Given the description of an element on the screen output the (x, y) to click on. 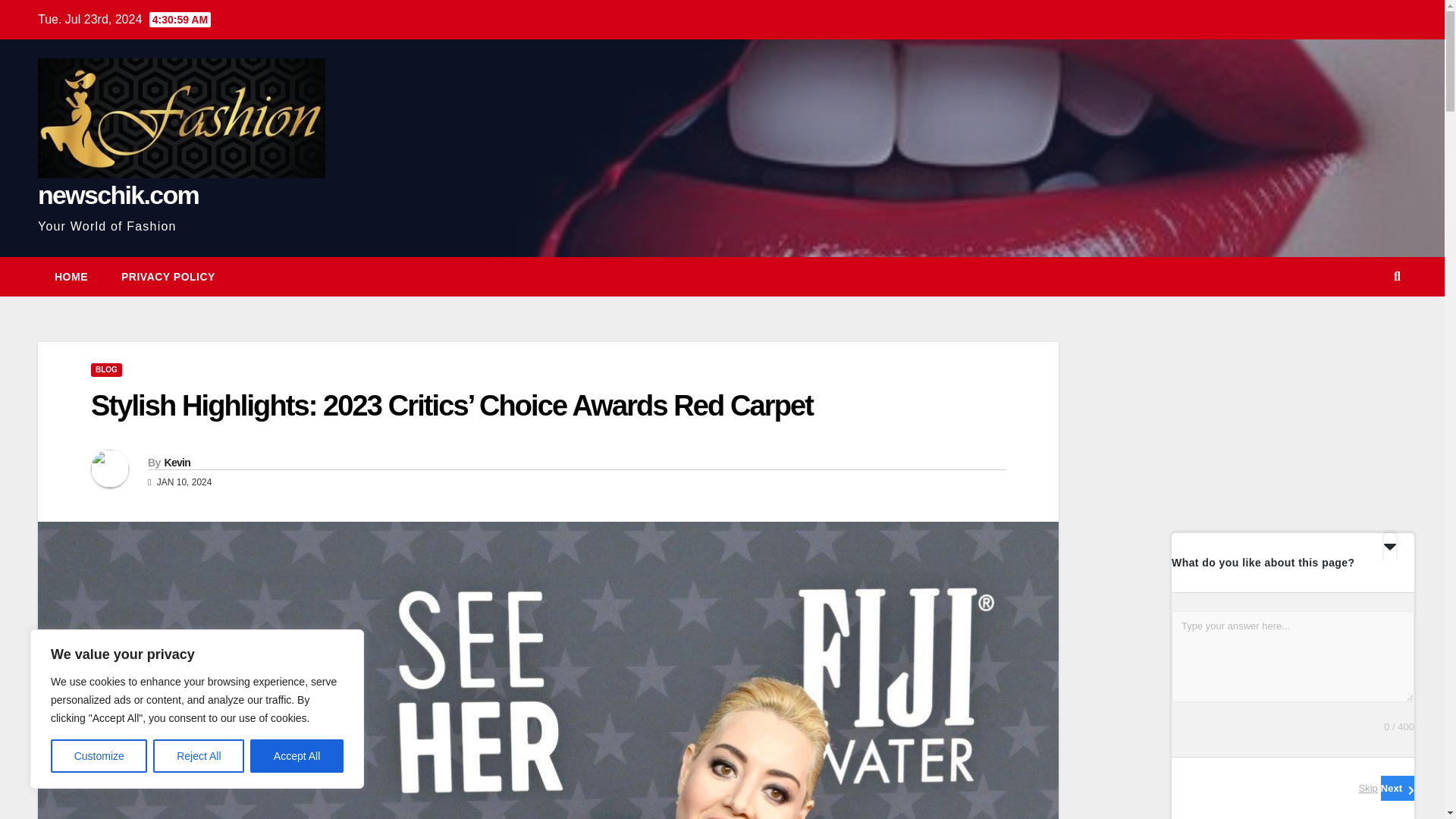
Reject All (198, 756)
Kevin (176, 462)
Customize (98, 756)
HOME (70, 276)
Accept All (296, 756)
PRIVACY POLICY (167, 276)
newschik.com (117, 194)
Home (70, 276)
BLOG (106, 369)
